Given the description of an element on the screen output the (x, y) to click on. 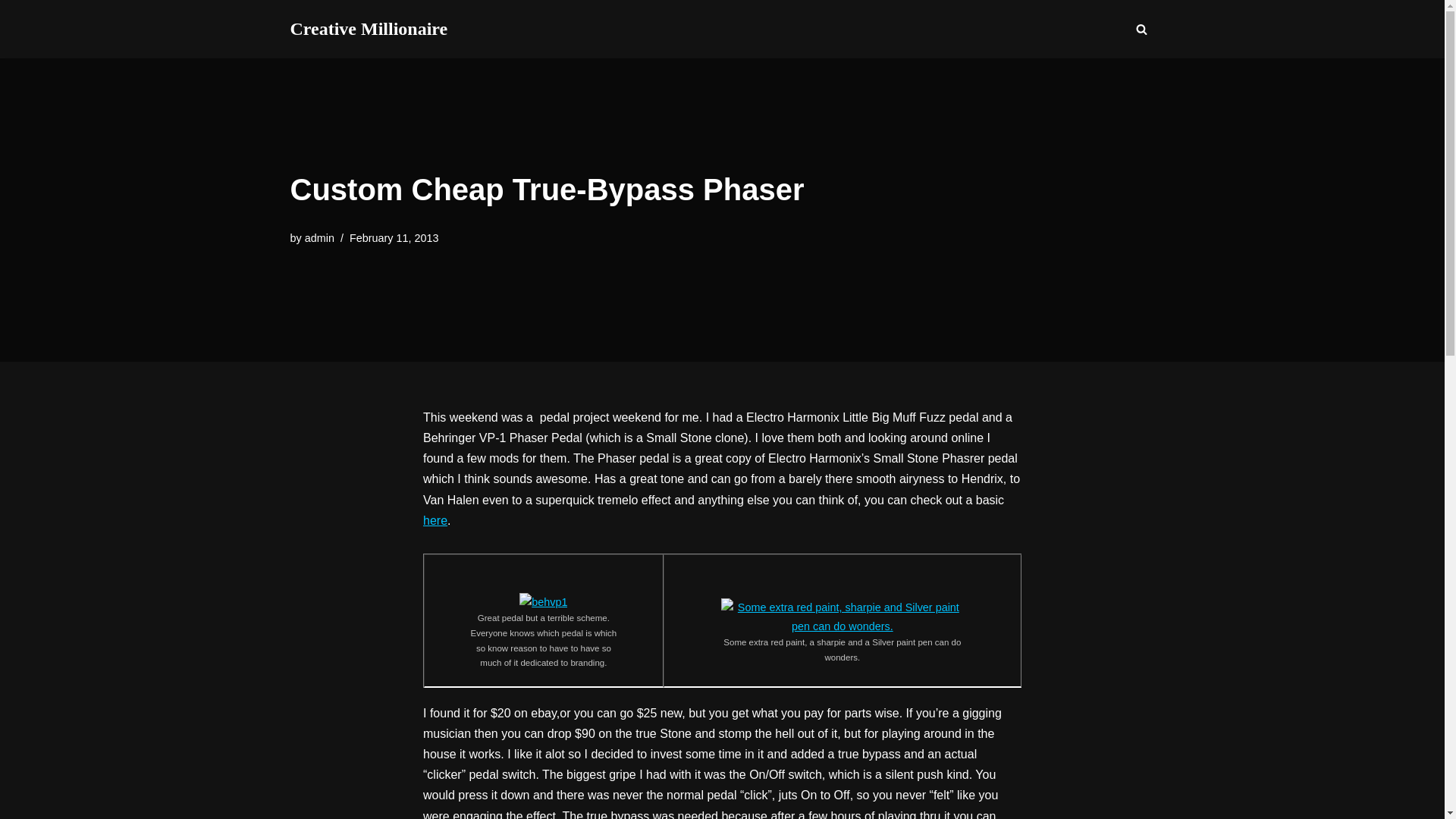
Phaser Test (434, 520)
Basic VP1 (543, 601)
Posts by admin (319, 237)
here (434, 520)
admin (319, 237)
Skip to content (11, 31)
Creative Millionaire (367, 29)
